Given the description of an element on the screen output the (x, y) to click on. 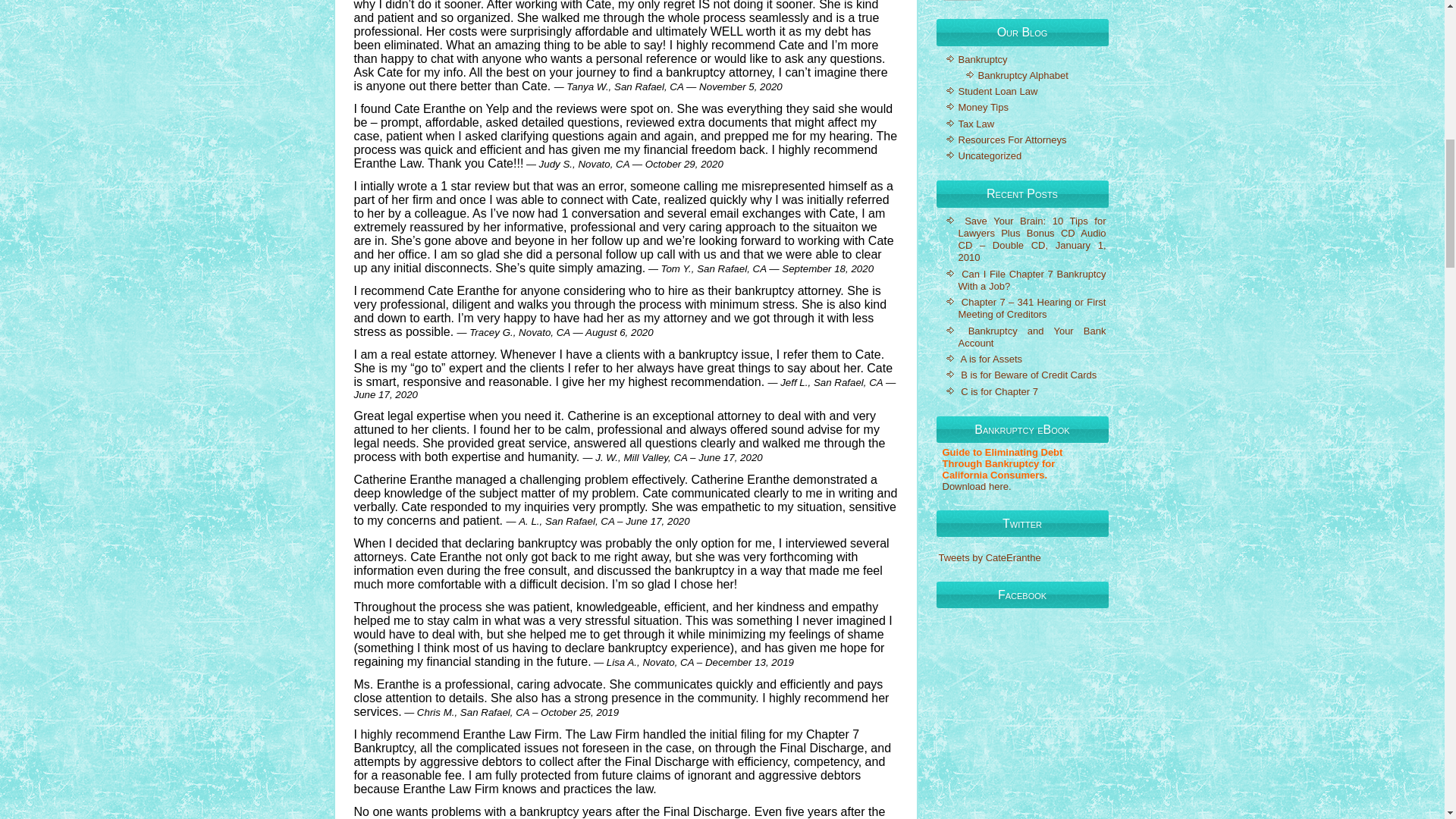
Student Loan Law (998, 91)
Bankruptcy (982, 59)
Bankruptcy and Your Bank Account (1032, 336)
A is for Assets (990, 358)
Resources For Attorneys (1012, 139)
Bankruptcy Alphabet (1023, 75)
B is for Beware of Credit Cards (1028, 374)
Download here. (976, 486)
C is for Chapter 7 (999, 391)
Tax Law (976, 123)
Money Tips (983, 107)
Uncategorized (990, 155)
Can I File Chapter 7 Bankruptcy With a Job? (1032, 279)
